Given the description of an element on the screen output the (x, y) to click on. 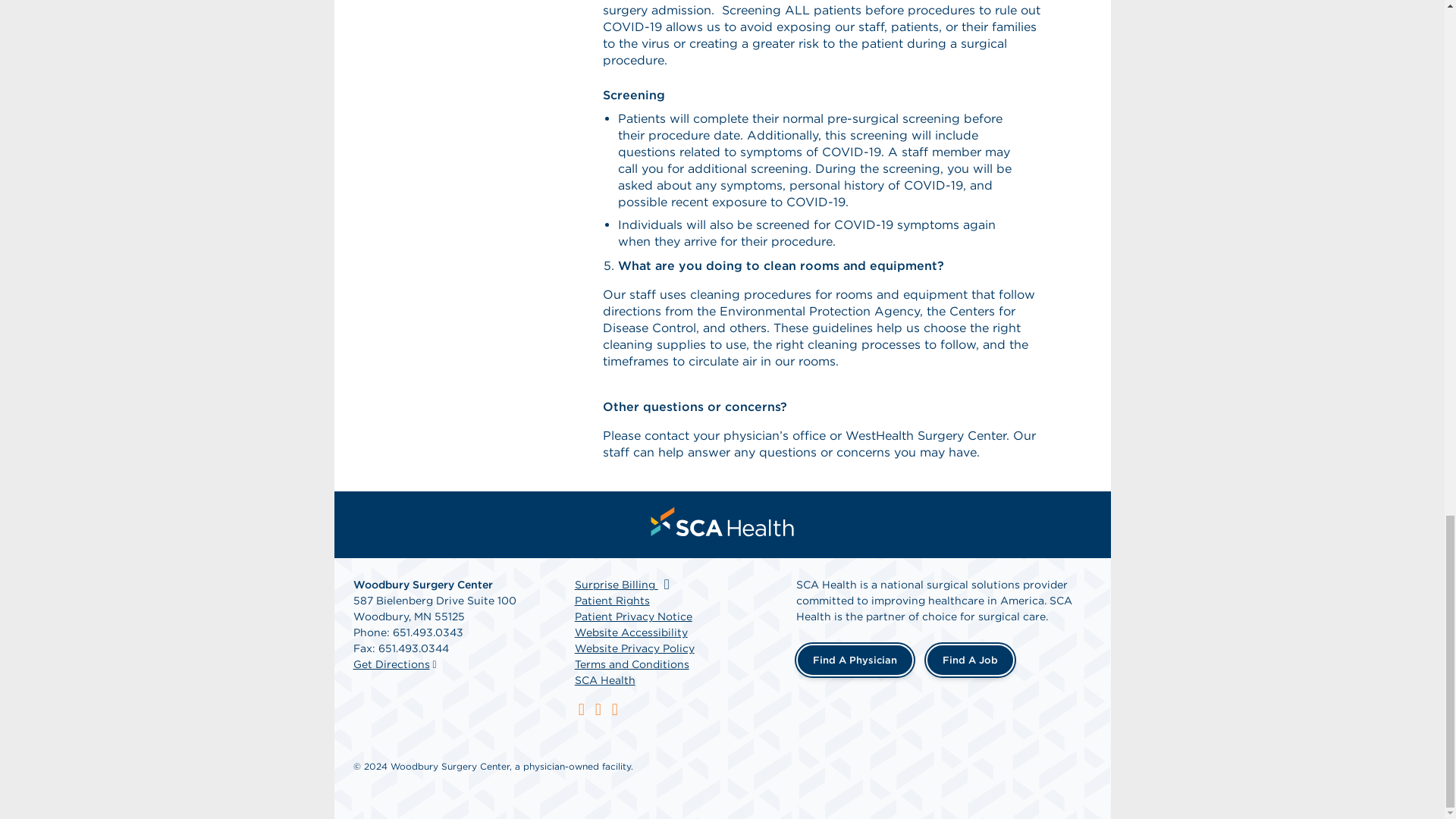
Website Accessibility (631, 632)
Patient Privacy Notice (634, 616)
Get Directions (391, 664)
Surprise Billing (625, 584)
Patient Rights (612, 600)
